Given the description of an element on the screen output the (x, y) to click on. 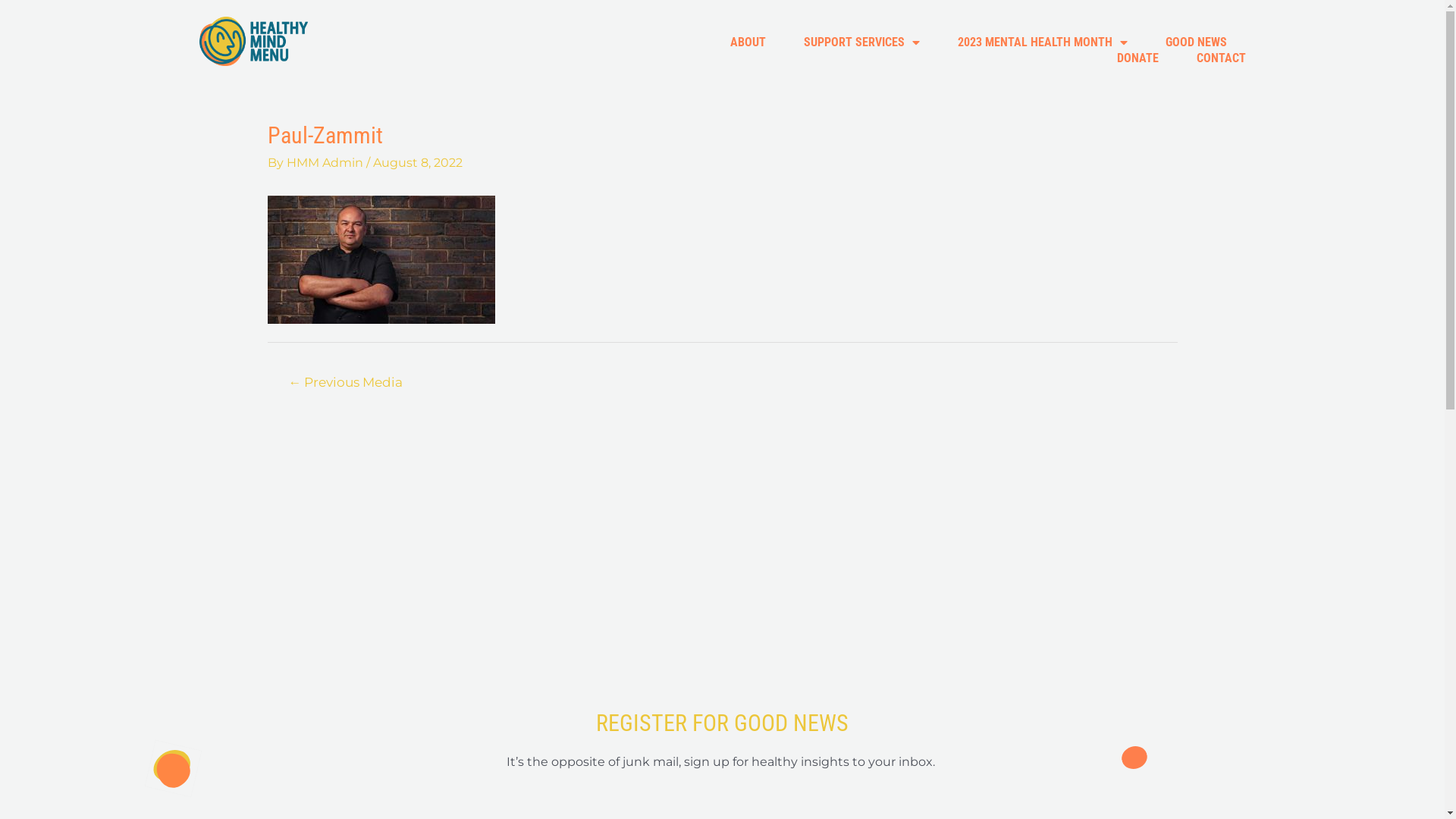
DONATE Element type: text (1136, 57)
2023 MENTAL HEALTH MONTH Element type: text (1041, 42)
ABOUT Element type: text (747, 42)
HMM Admin Element type: text (326, 162)
GOOD NEWS Element type: text (1195, 42)
SUPPORT SERVICES Element type: text (861, 42)
CONTACT Element type: text (1220, 57)
